Given the description of an element on the screen output the (x, y) to click on. 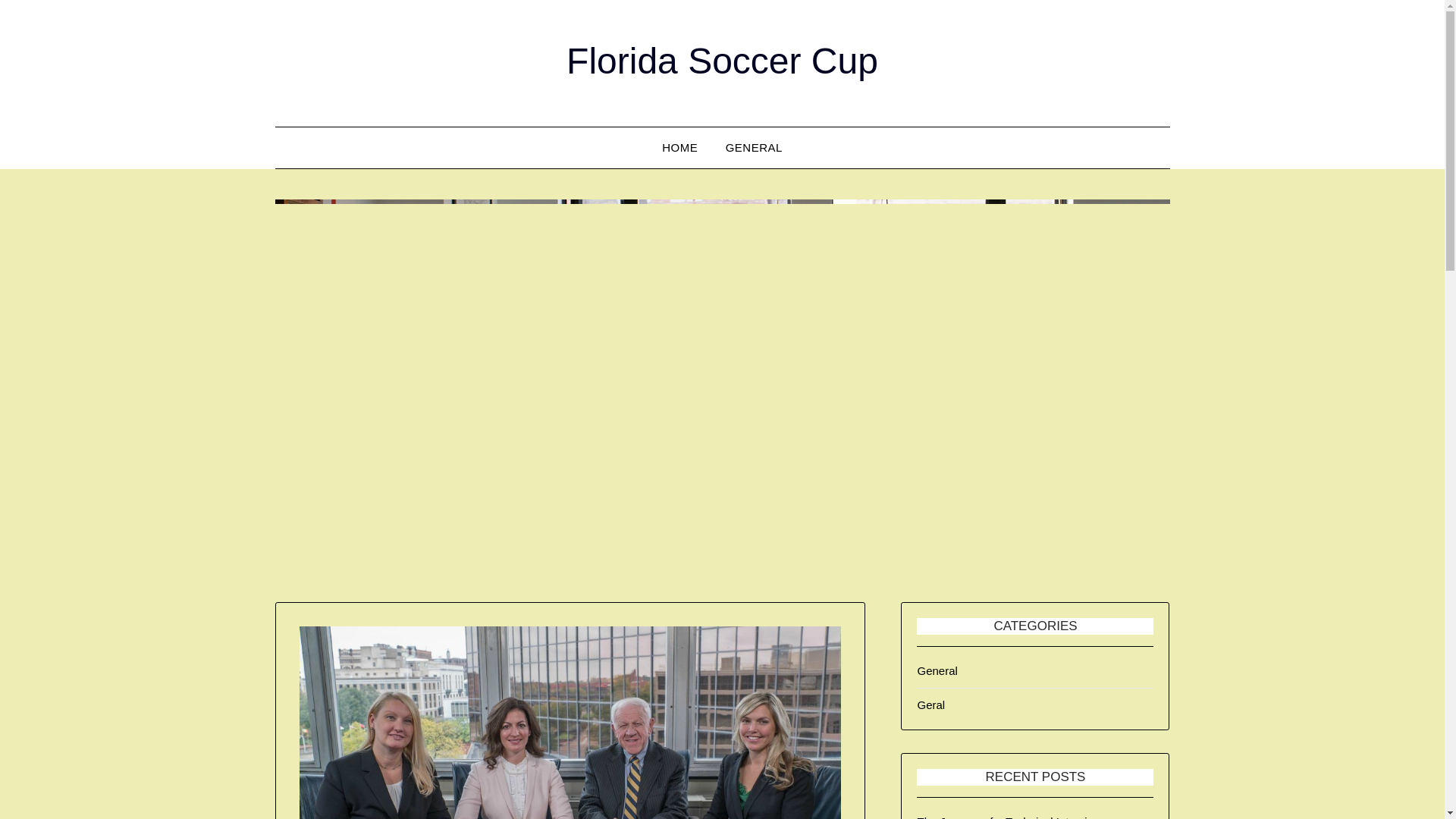
The Journey of a Technical Interview: Embracing Growth (1010, 816)
General (936, 670)
Geral (930, 704)
Florida Soccer Cup (721, 60)
HOME (679, 147)
GENERAL (753, 147)
